Given the description of an element on the screen output the (x, y) to click on. 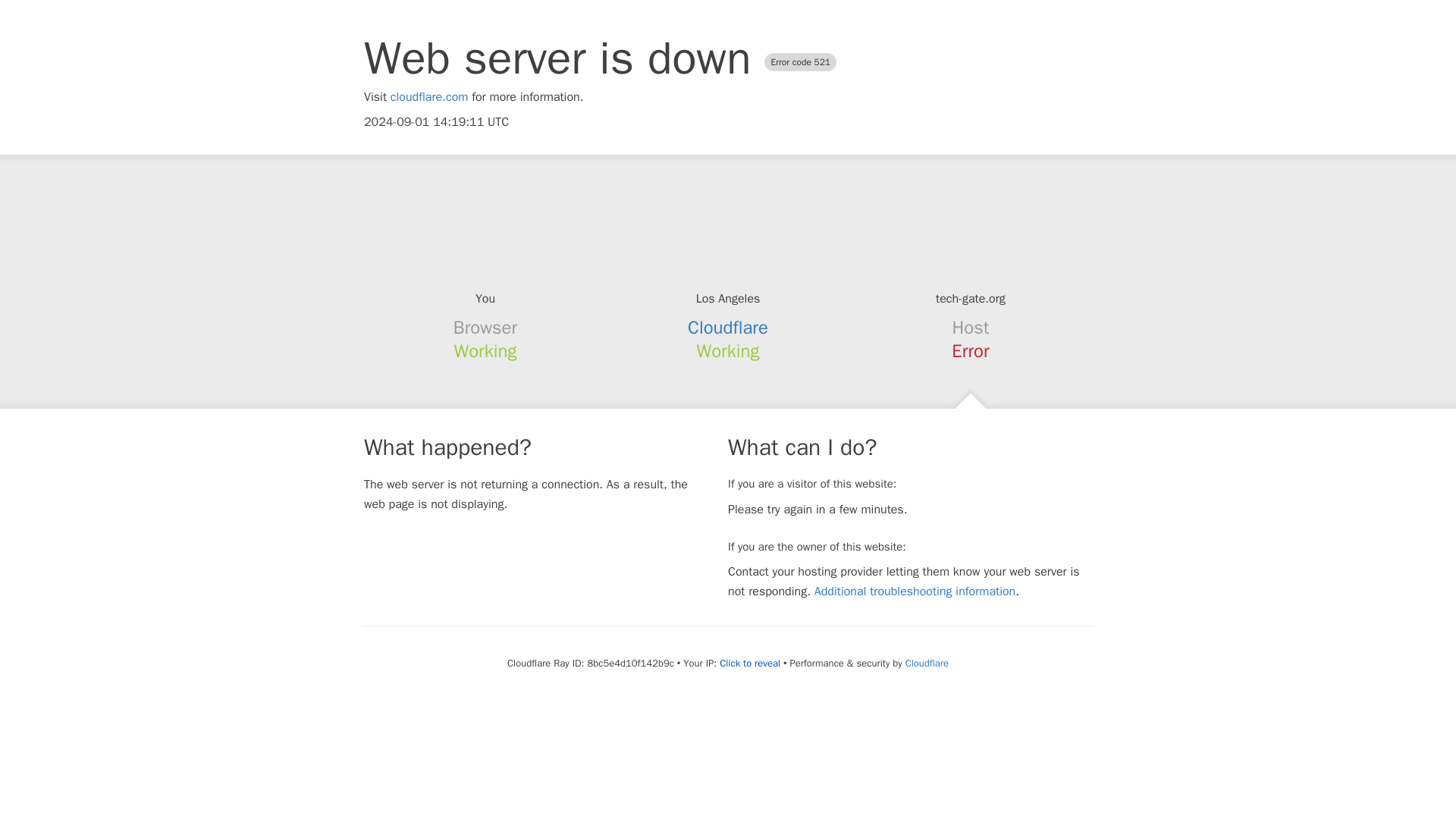
Additional troubleshooting information (913, 590)
Cloudflare (727, 327)
Cloudflare (927, 662)
cloudflare.com (429, 96)
Click to reveal (749, 663)
